Given the description of an element on the screen output the (x, y) to click on. 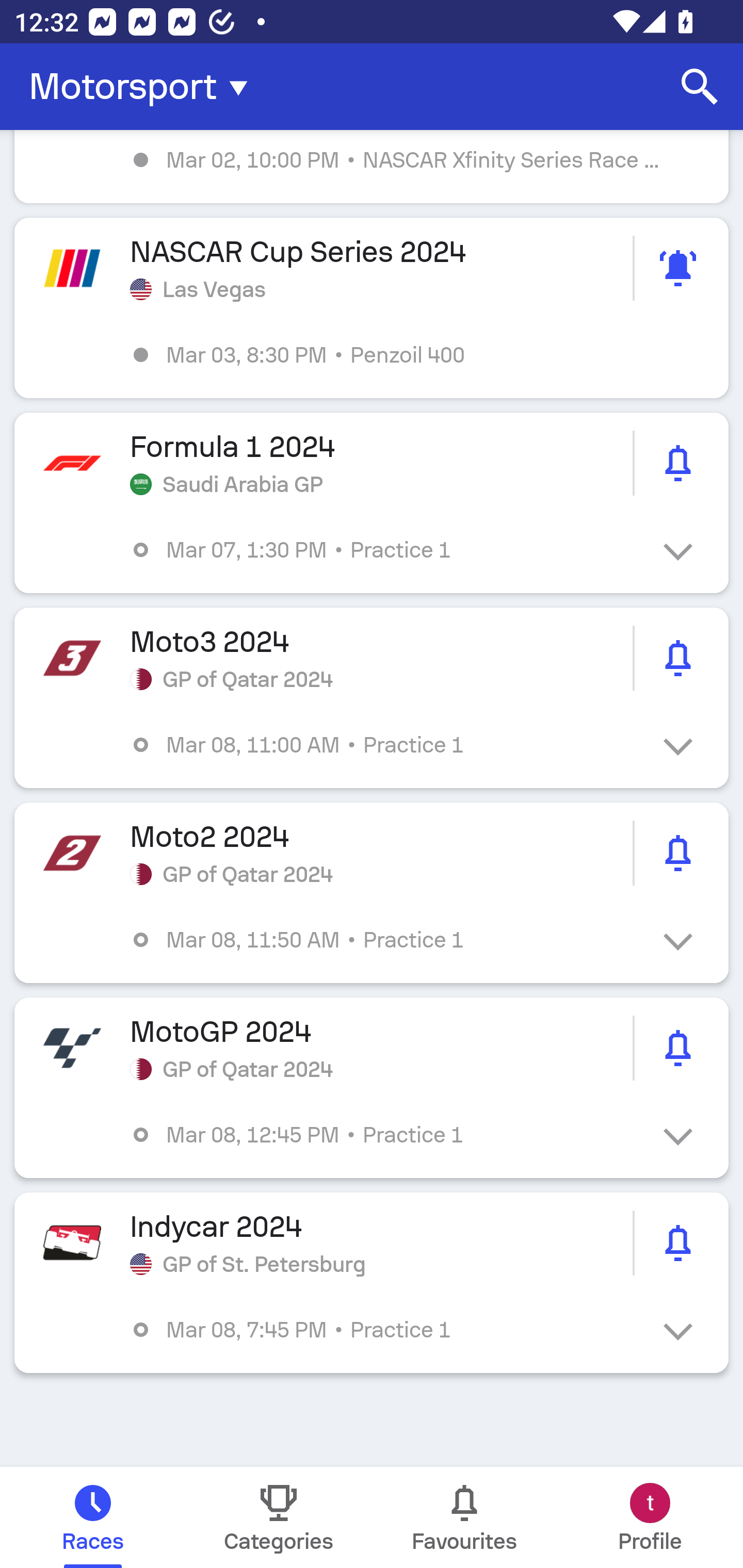
Motorsport (144, 86)
Search (699, 86)
Mar 07, 1:30 PM • Practice 1 (385, 549)
Mar 08, 11:00 AM • Practice 1 (385, 744)
Mar 08, 11:50 AM • Practice 1 (385, 939)
Mar 08, 12:45 PM • Practice 1 (385, 1134)
Mar 08, 7:45 PM • Practice 1 (385, 1329)
Categories (278, 1517)
Favourites (464, 1517)
Profile (650, 1517)
